Given the description of an element on the screen output the (x, y) to click on. 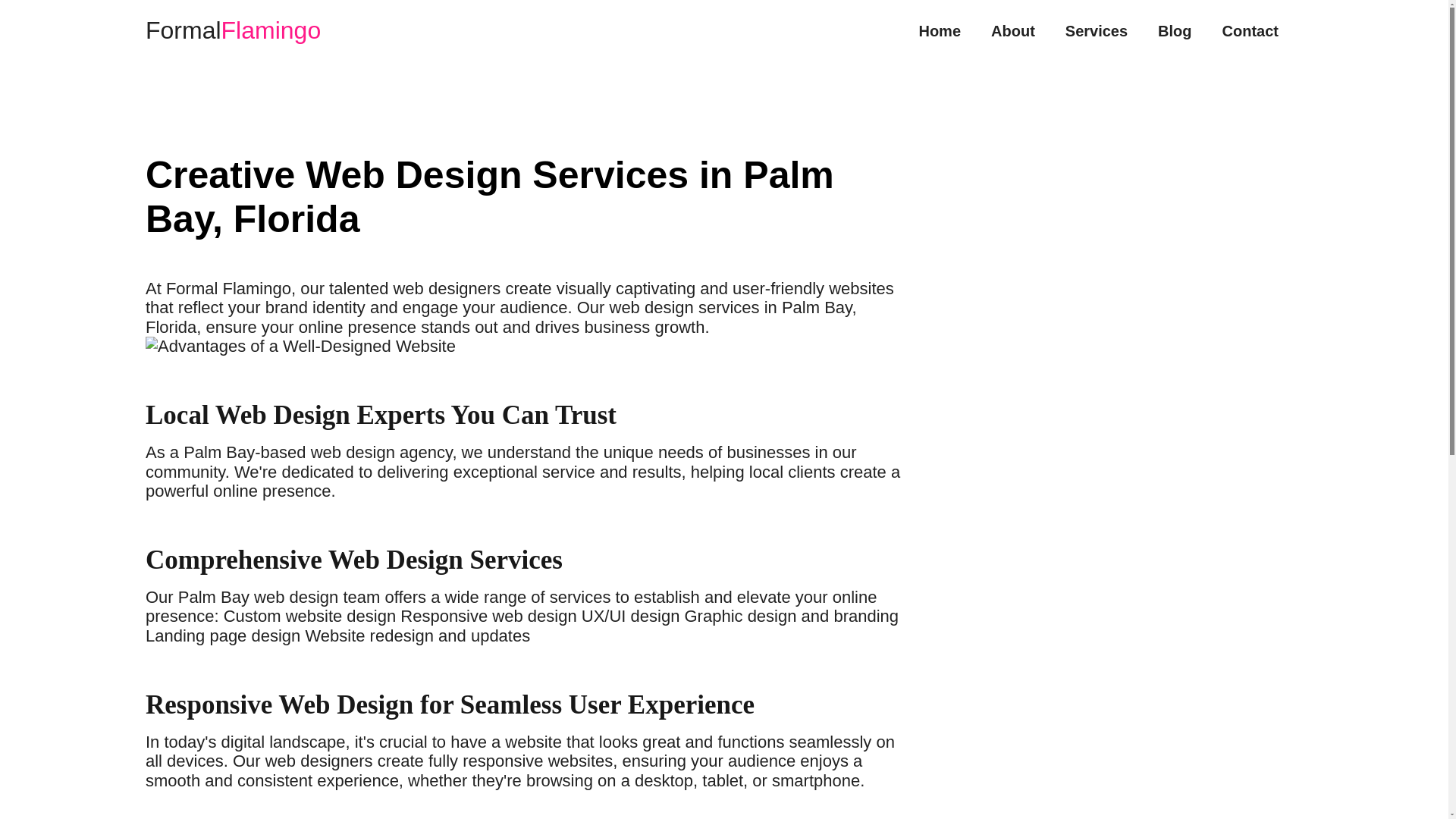
Services (1096, 30)
Home (939, 30)
FormalFlamingo (232, 30)
Blog (1174, 30)
About (1013, 30)
Contact (1249, 30)
